Given the description of an element on the screen output the (x, y) to click on. 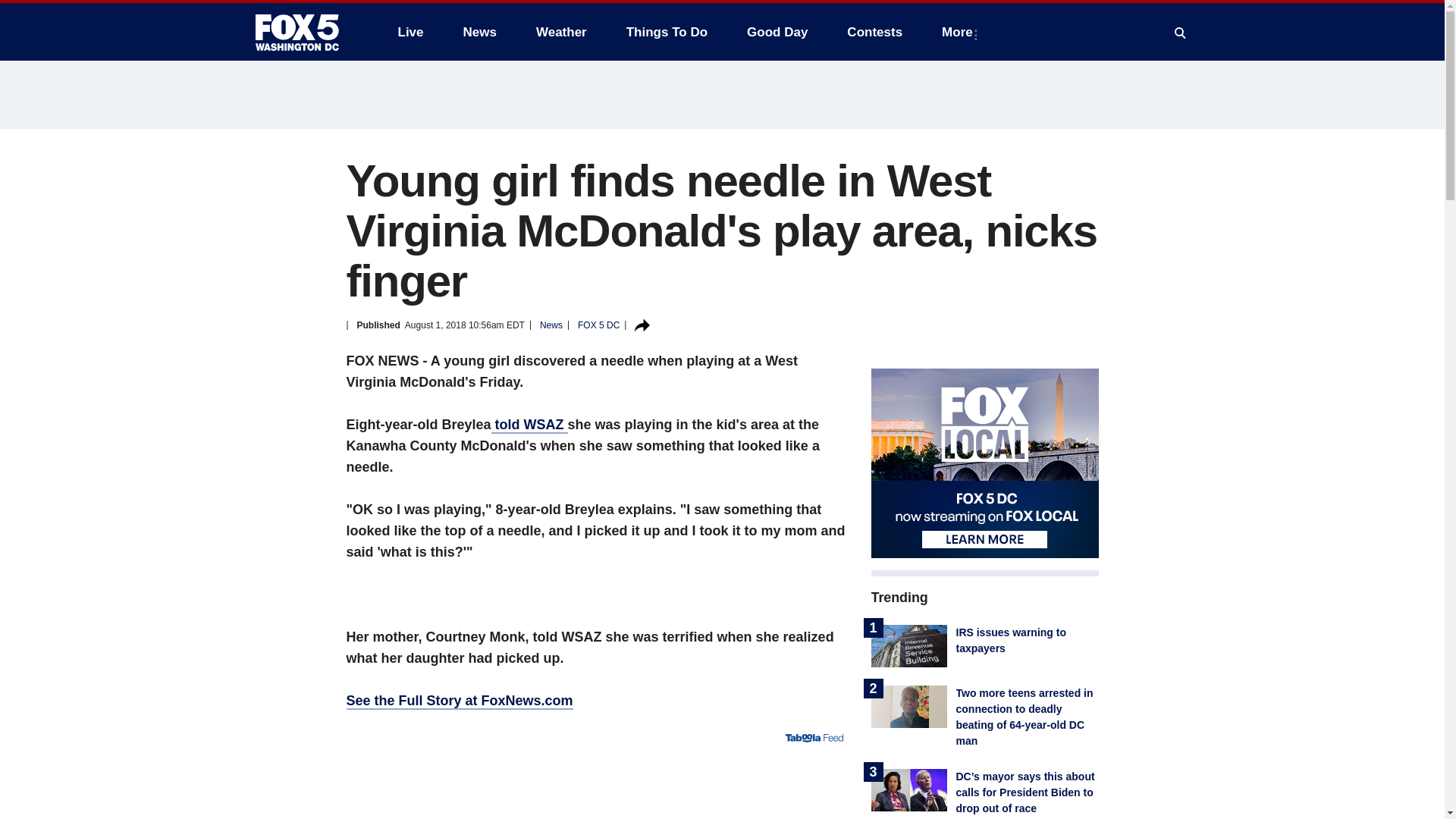
Things To Do (666, 32)
Weather (561, 32)
Good Day (777, 32)
Contests (874, 32)
News (479, 32)
More (960, 32)
Live (410, 32)
